Given the description of an element on the screen output the (x, y) to click on. 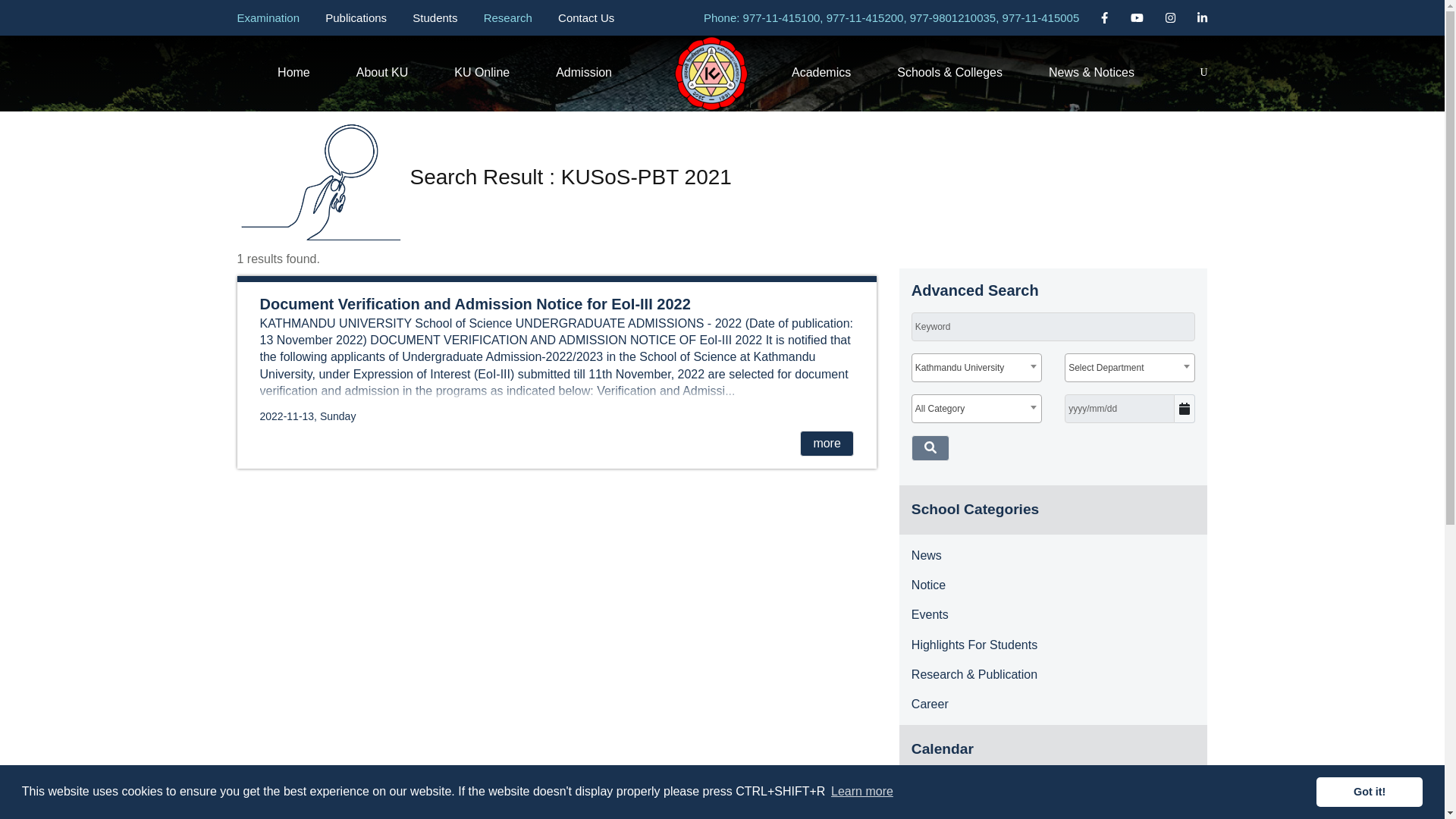
Learn more (861, 791)
Got it! (1369, 791)
